Given the description of an element on the screen output the (x, y) to click on. 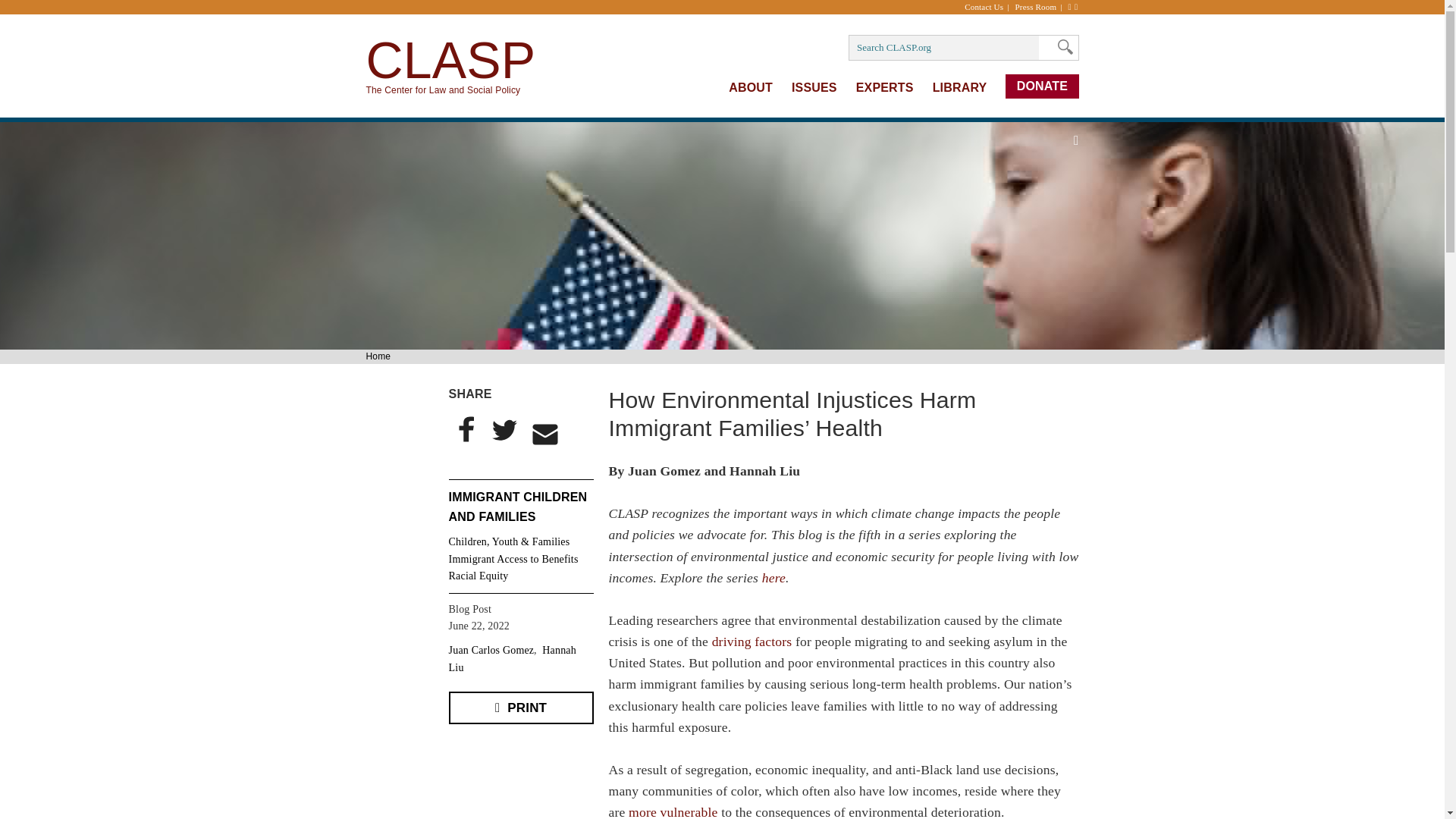
Contact Us (987, 6)
Facebook (466, 429)
Press Room (1039, 6)
Display a printer-friendly version of this page. (521, 707)
CLASP (450, 59)
Search (1060, 47)
Email (545, 434)
Twitter (502, 429)
Contact Us (987, 6)
